Given the description of an element on the screen output the (x, y) to click on. 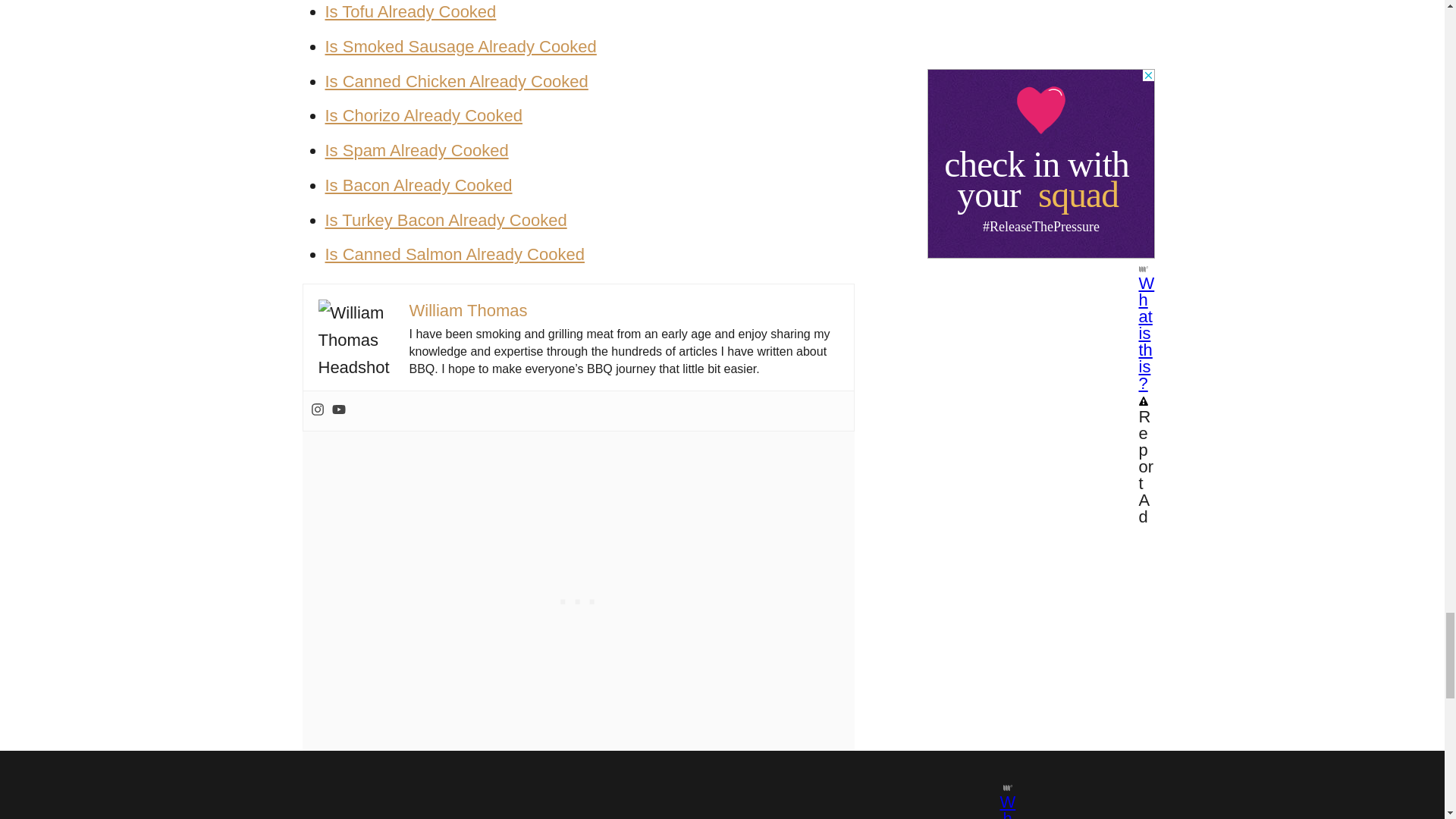
Is Spam Already Cooked (416, 149)
Is Smoked Sausage Already Cooked (459, 46)
Is Canned Salmon Already Cooked (453, 253)
Is Chorizo Already Cooked (422, 115)
Is Tofu Already Cooked (410, 11)
William Thomas (468, 310)
Is Bacon Already Cooked (418, 185)
Is Turkey Bacon Already Cooked (445, 220)
Is Canned Chicken Already Cooked (456, 81)
